Given the description of an element on the screen output the (x, y) to click on. 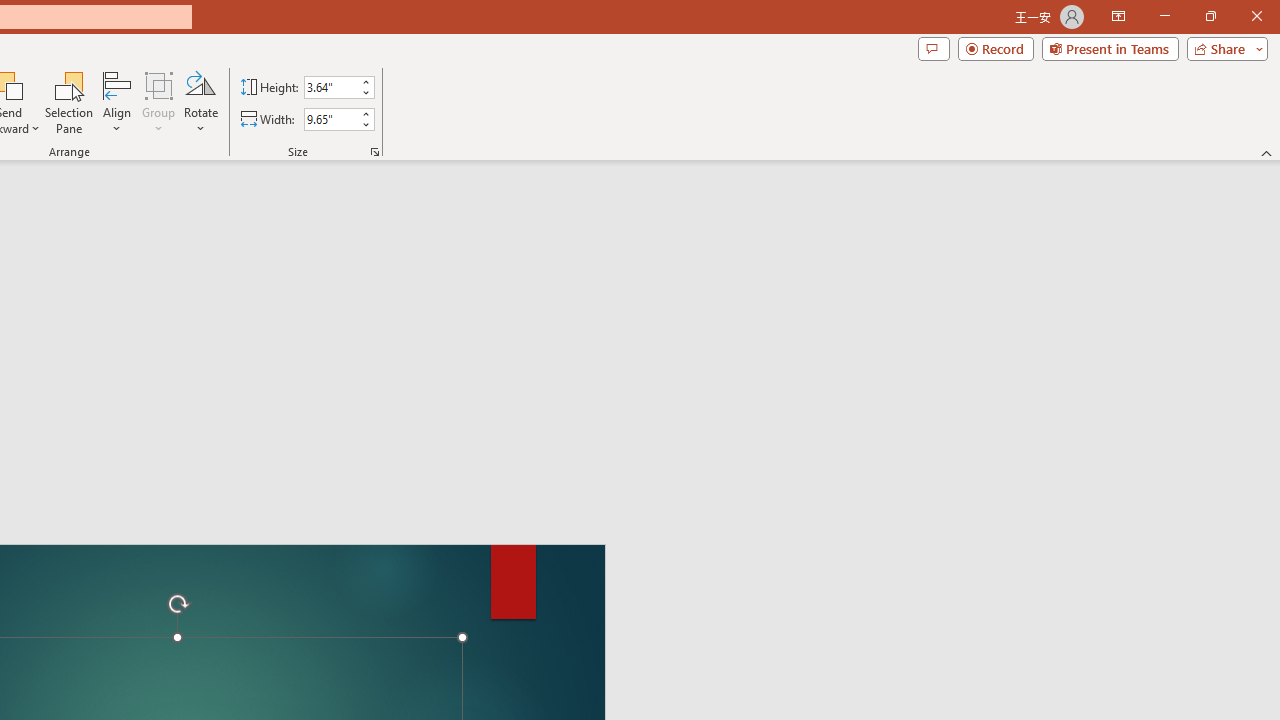
Selection Pane... (69, 102)
Shape Width (330, 119)
Rotate (200, 102)
Size and Position... (374, 151)
Group (159, 102)
